Given the description of an element on the screen output the (x, y) to click on. 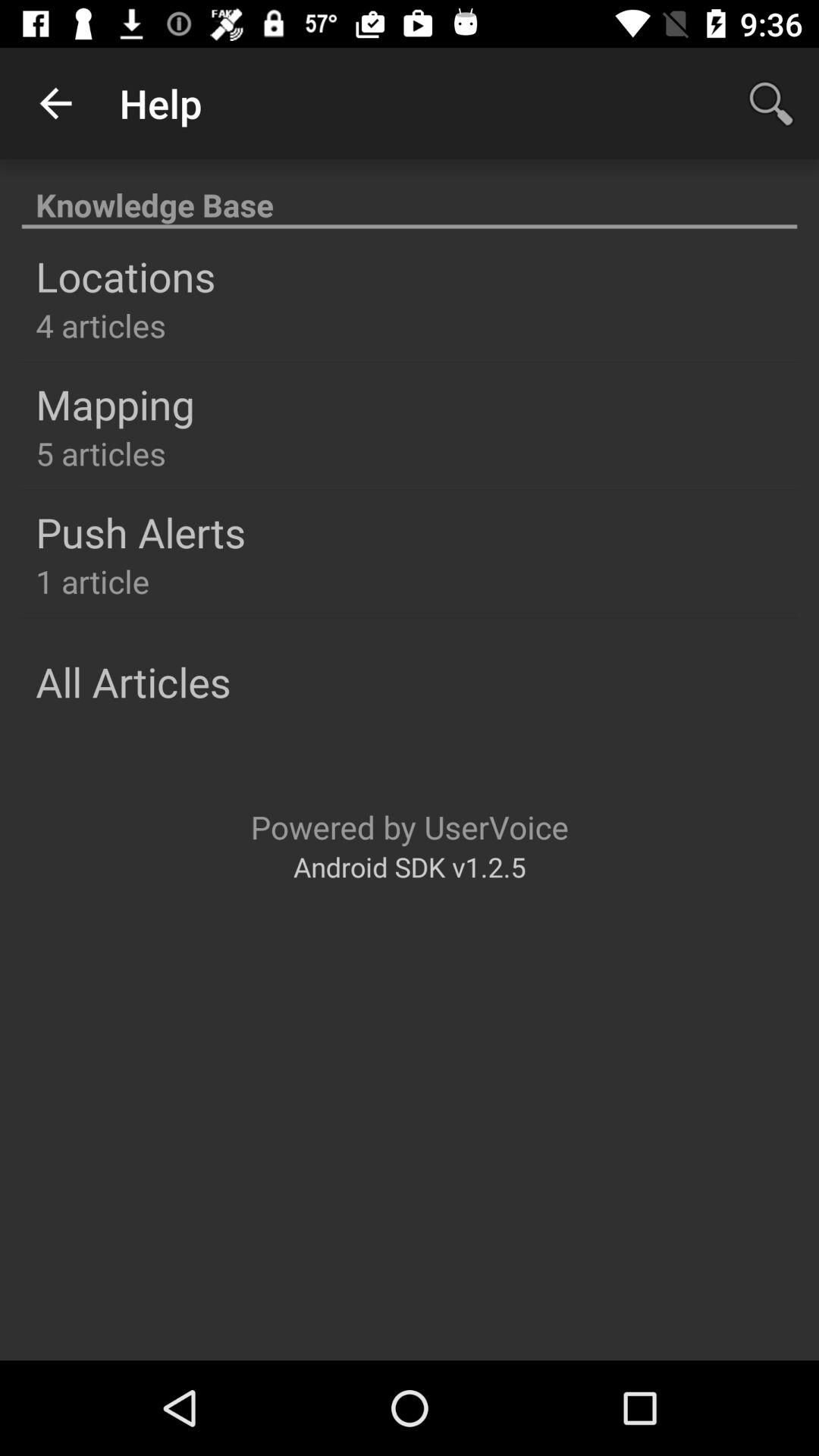
choose icon below powered by uservoice icon (409, 866)
